Given the description of an element on the screen output the (x, y) to click on. 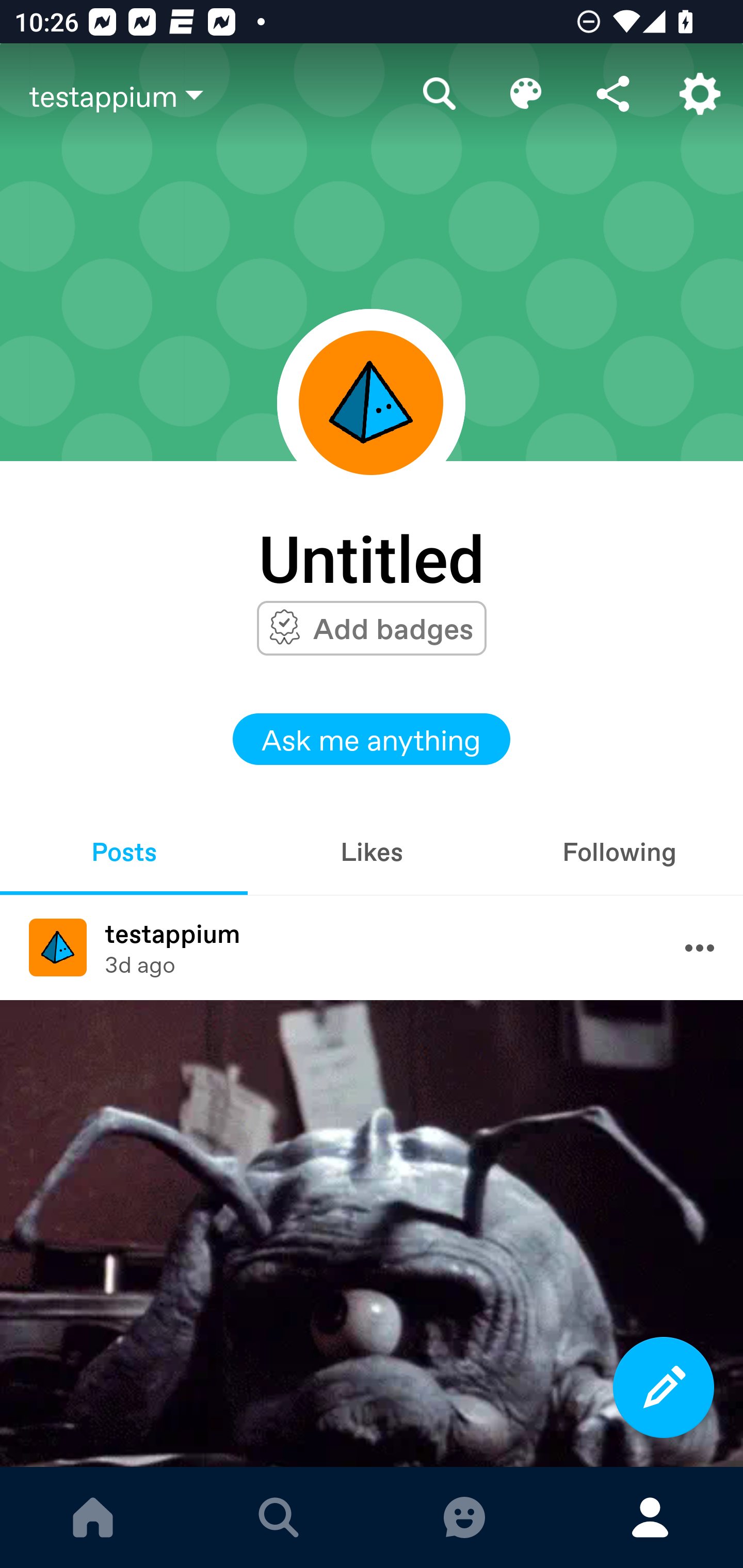
testappium (212, 95)
Search blog (439, 93)
Edit (525, 93)
Share (612, 93)
Account (699, 93)
Avatar frame (371, 402)
Add badges (393, 627)
Ask me anything (371, 739)
Likes (371, 851)
Following (619, 851)
Avatar frame testappium   testappium 3d ago (371, 947)
Compose a new post (663, 1387)
DASHBOARD (92, 1517)
EXPLORE (278, 1517)
MESSAGES (464, 1517)
ACCOUNT (650, 1517)
